Given the description of an element on the screen output the (x, y) to click on. 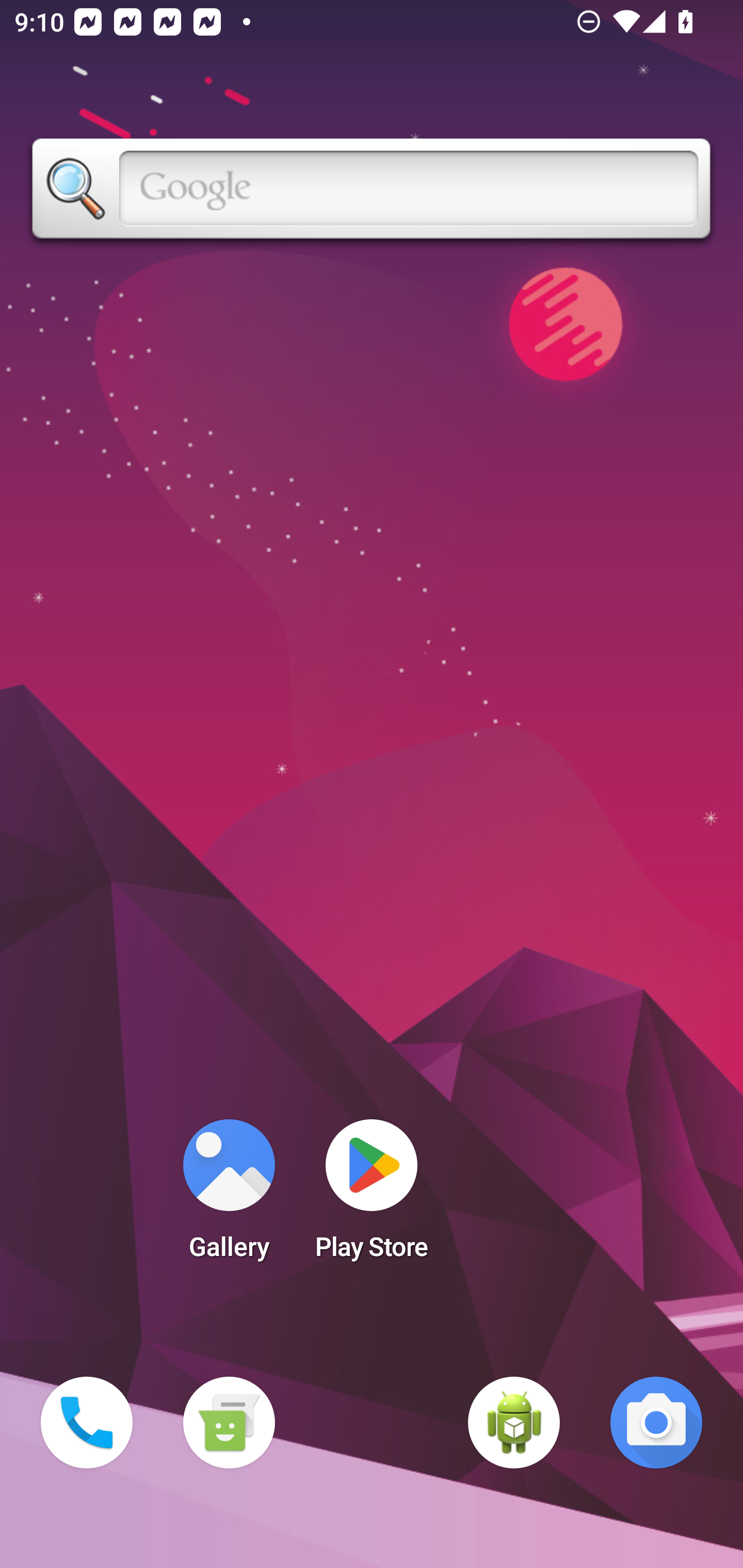
Gallery (228, 1195)
Play Store (371, 1195)
Phone (86, 1422)
Messaging (228, 1422)
WebView Browser Tester (513, 1422)
Camera (656, 1422)
